Given the description of an element on the screen output the (x, y) to click on. 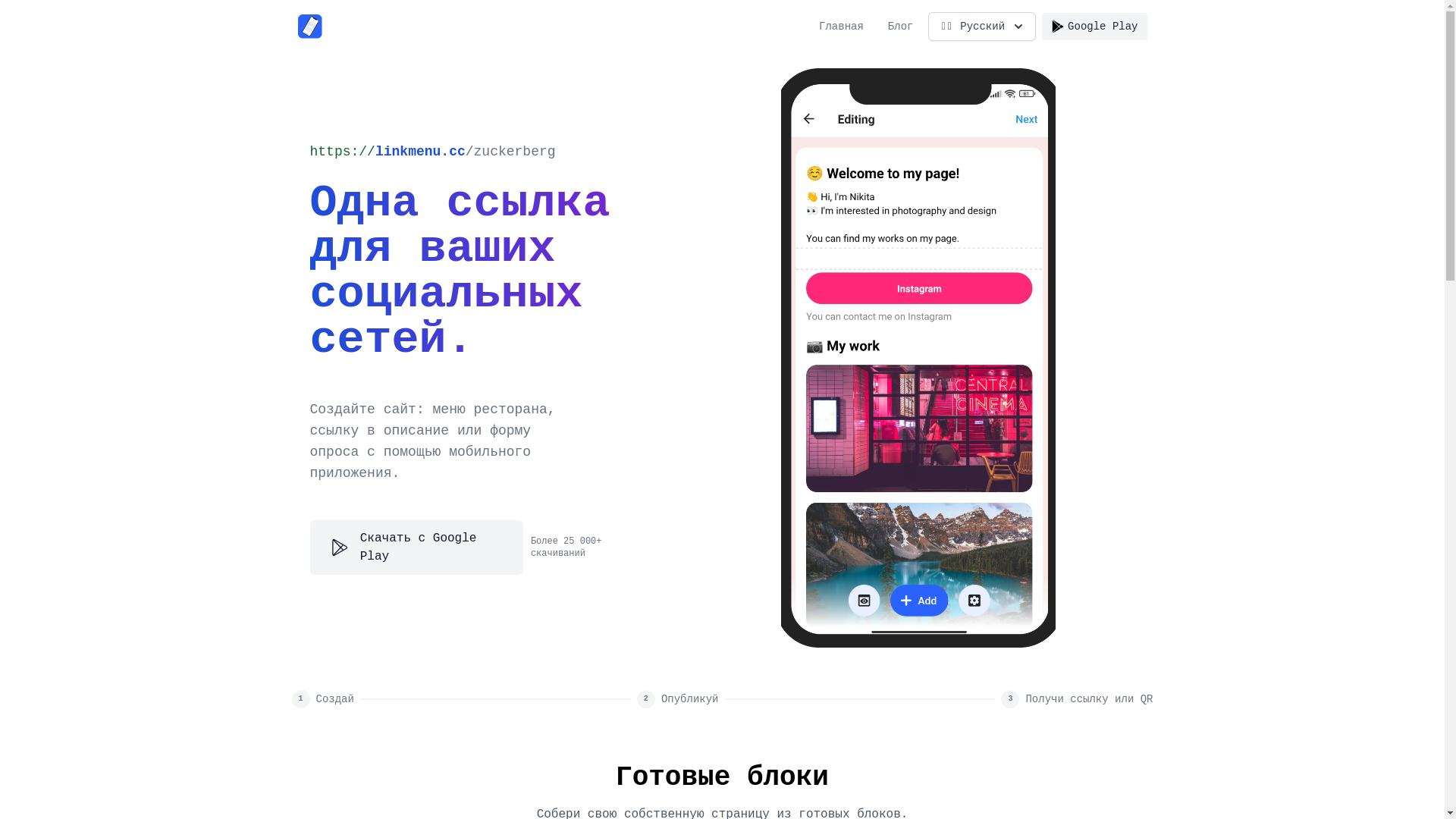
Google Play Element type: text (1093, 26)
